Given the description of an element on the screen output the (x, y) to click on. 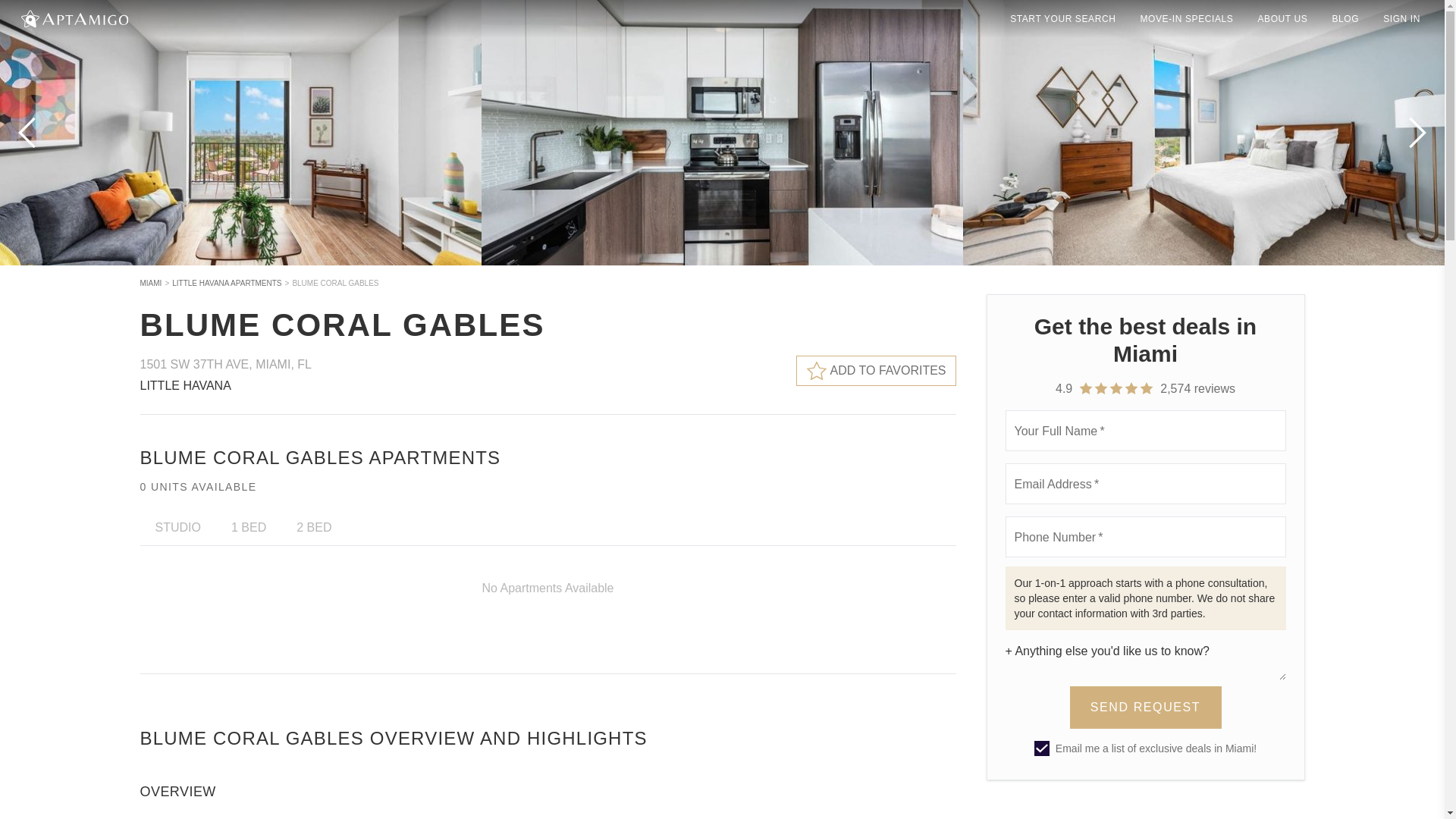
ABOUT US (1282, 18)
SEND REQUEST (1144, 707)
LITTLE HAVANA APARTMENTS (226, 283)
2 BED (313, 527)
MIAMI (150, 283)
STUDIO (177, 527)
START YOUR SEARCH (1062, 18)
on (1041, 748)
MOVE-IN SPECIALS (1186, 18)
BLOG (1345, 18)
SIGN IN (1402, 18)
ADD TO FAVORITES (876, 370)
1 BED (248, 527)
